Given the description of an element on the screen output the (x, y) to click on. 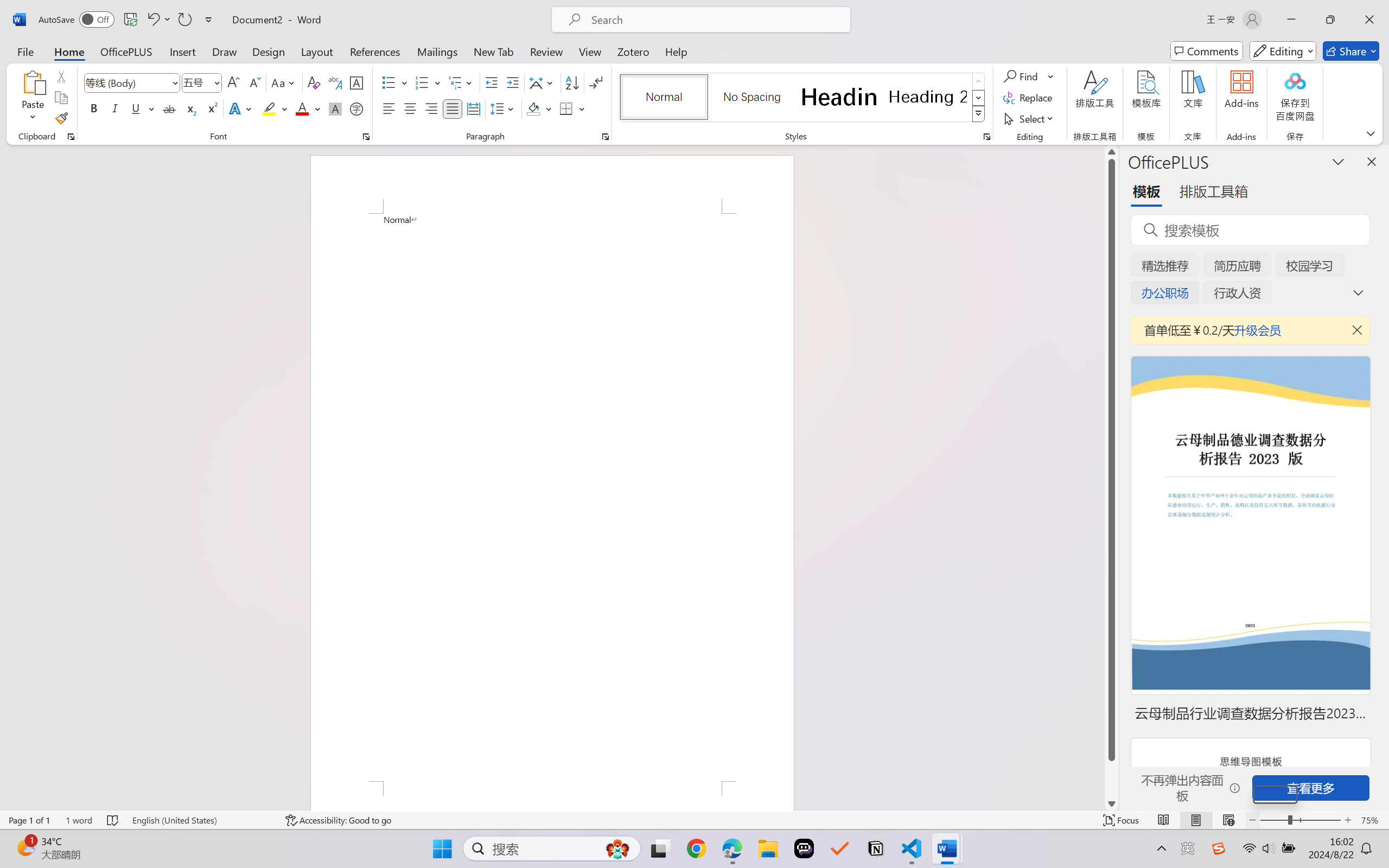
Help (675, 51)
Word Count 1 word (78, 819)
Paste (33, 97)
AutoSave (76, 19)
Change Case (284, 82)
Clear Formatting (313, 82)
Design (268, 51)
Grow Font (233, 82)
Customize Quick Access Toolbar (208, 19)
Comments (1206, 50)
Align Left (388, 108)
